Given the description of an element on the screen output the (x, y) to click on. 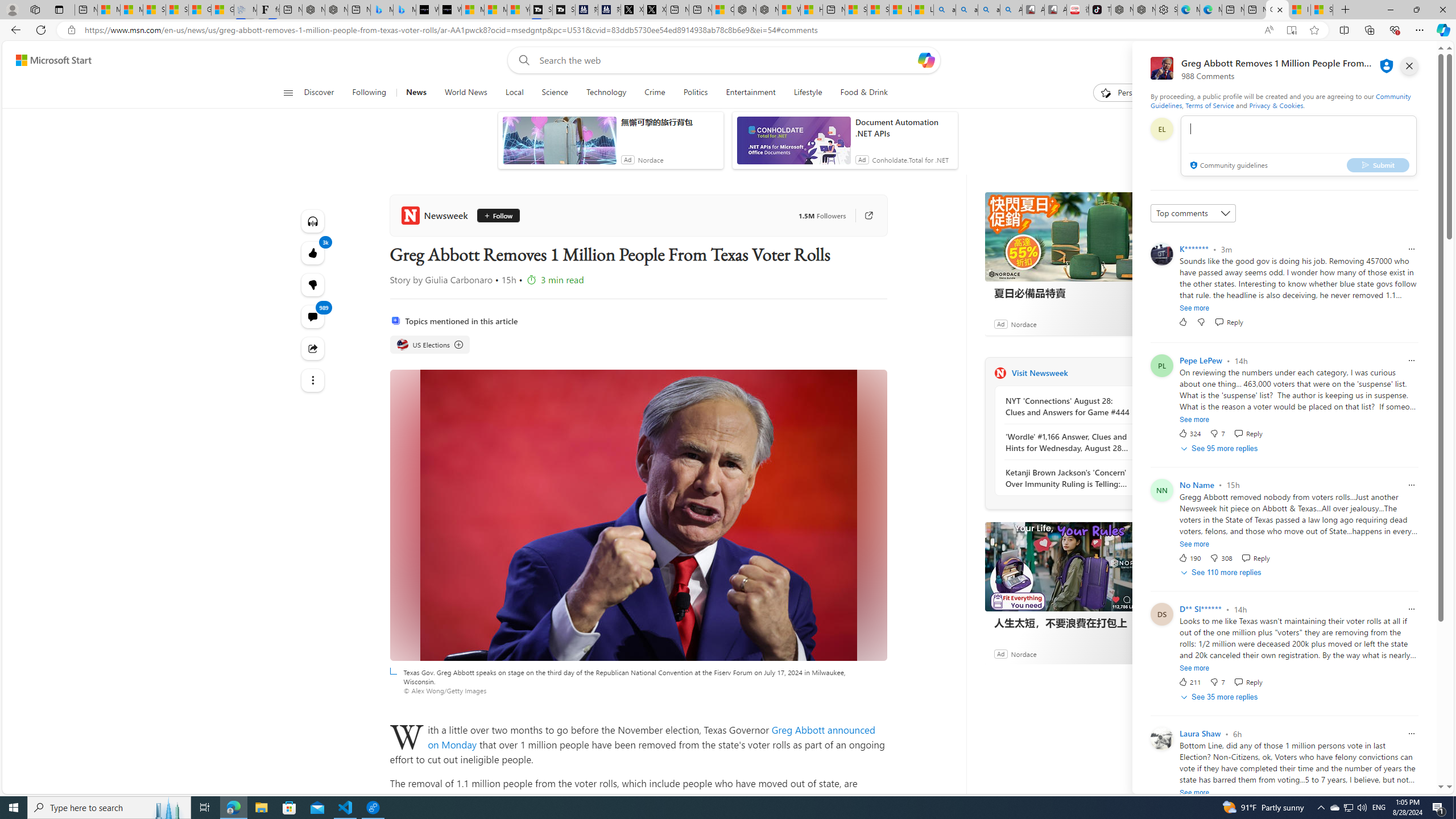
NYT 'Connections' August 28: Clues and Answers for Game #444 (1066, 406)
Conholdate.Total for .NET (910, 159)
190 Like (1189, 557)
Crime (654, 92)
Listen to this article (312, 221)
Community Guidelines (1280, 100)
Laura Shaw (1200, 733)
Share this story (312, 348)
